Given the description of an element on the screen output the (x, y) to click on. 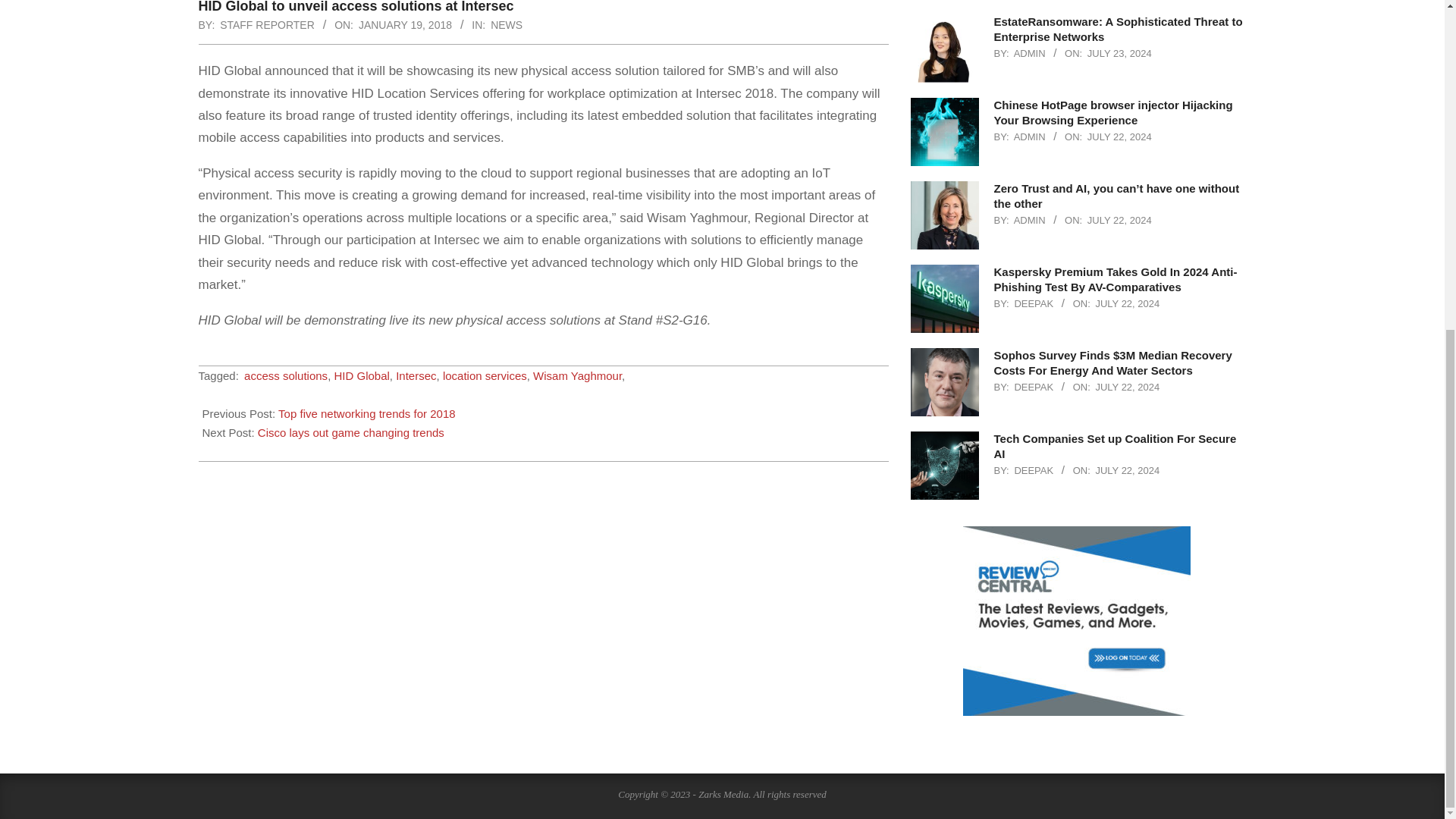
Posts by admin (1029, 52)
Posts by Deepak (1032, 387)
Posts by admin (1029, 136)
Monday, July 22, 2024, 3:10 pm (1126, 303)
Monday, July 22, 2024, 11:55 am (1126, 470)
Posts by Deepak (1032, 470)
Posts by Deepak (1032, 303)
Monday, July 22, 2024, 3:39 pm (1119, 220)
Tuesday, July 23, 2024, 10:02 am (1119, 52)
Monday, July 22, 2024, 2:34 pm (1126, 387)
Friday, January 19, 2018, 12:35 pm (404, 24)
Monday, July 22, 2024, 3:59 pm (1119, 136)
Posts by admin (1029, 220)
Posts by Staff Reporter (266, 24)
